Given the description of an element on the screen output the (x, y) to click on. 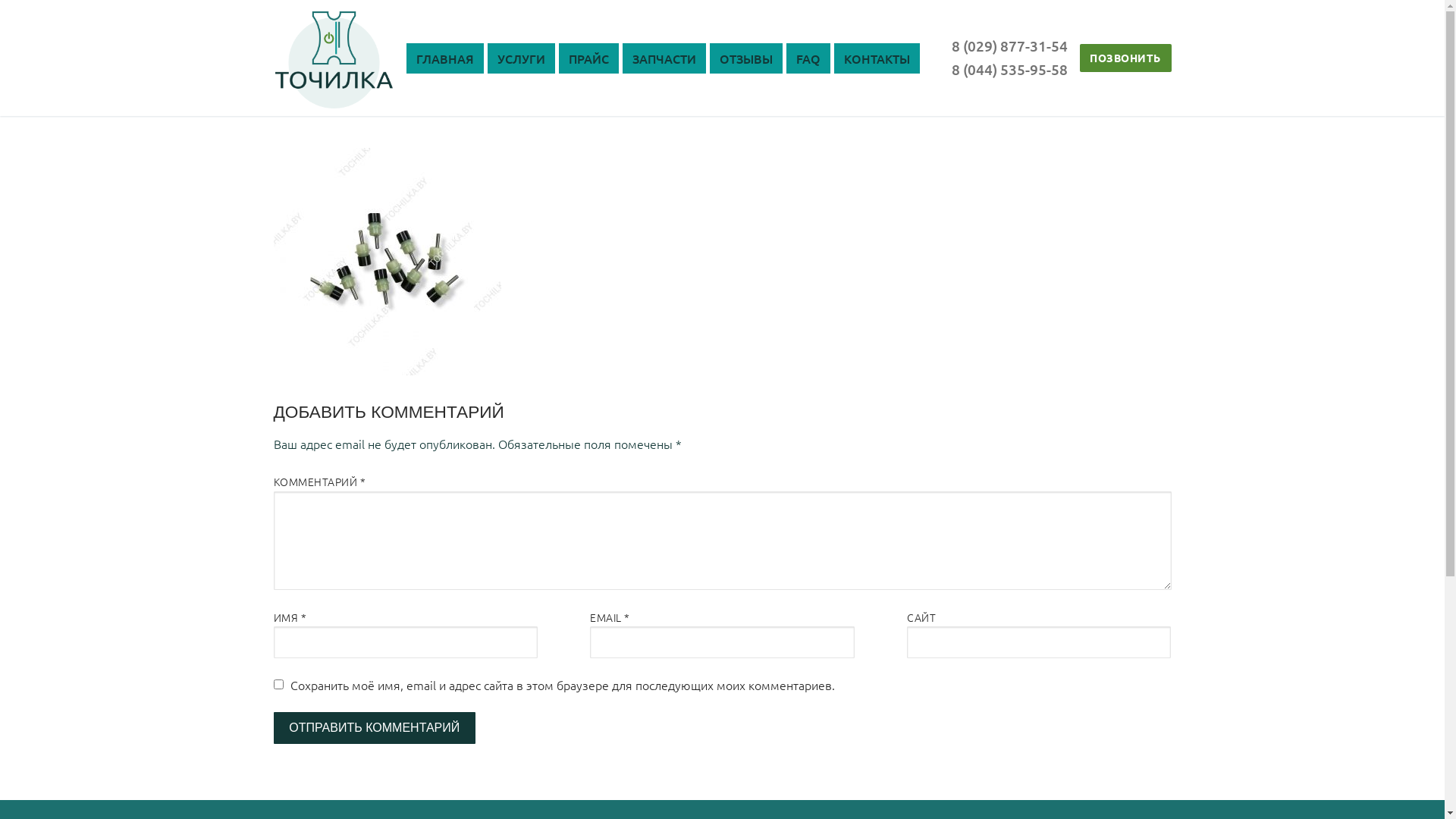
FAQ Element type: text (807, 58)
8 (029) 877-31-54 Element type: text (1009, 45)
8 (044) 535-95-58 Element type: text (1009, 68)
